Given the description of an element on the screen output the (x, y) to click on. 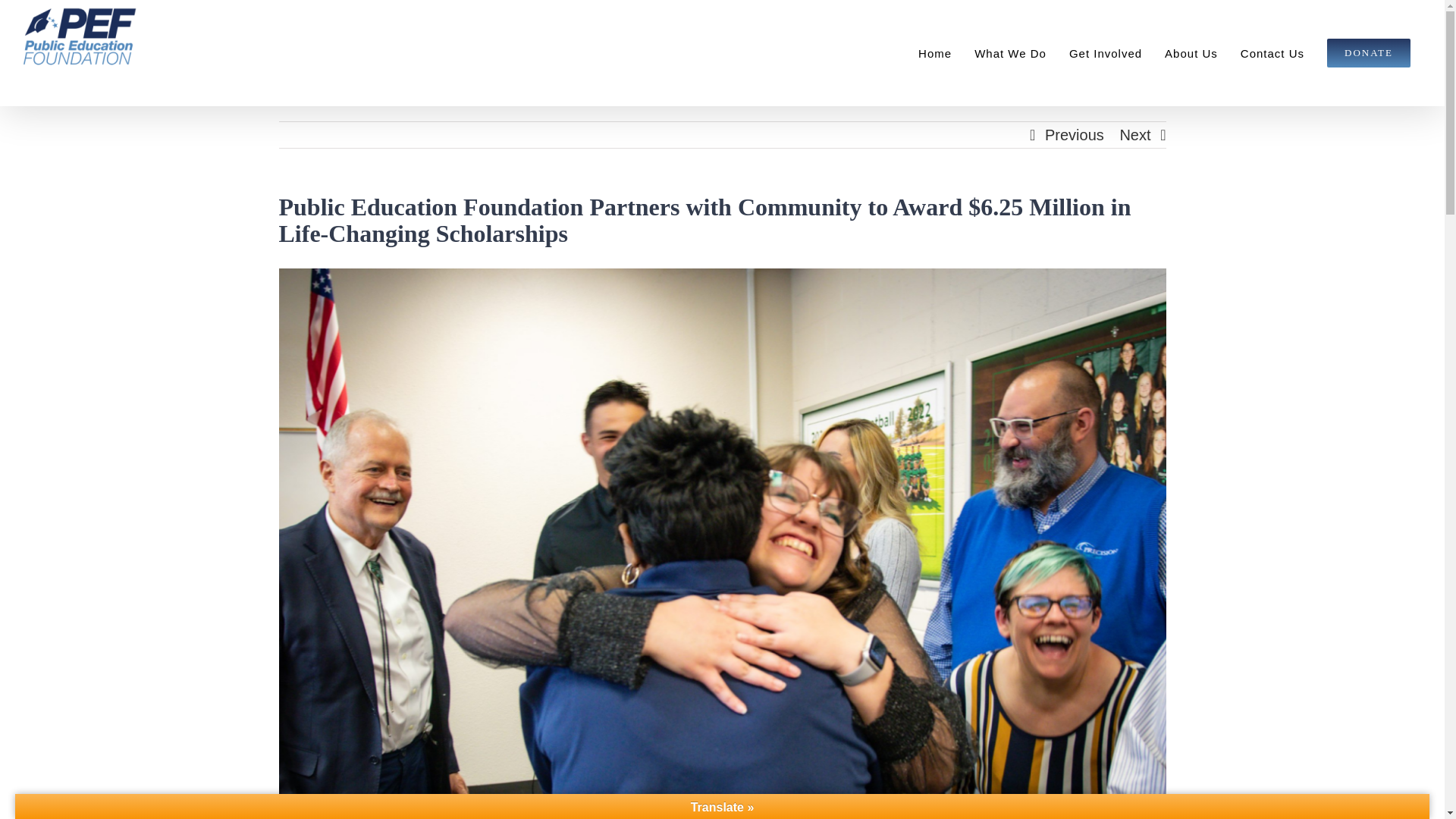
What We Do (1010, 53)
Get Involved (1105, 53)
DONATE (1369, 53)
